Given the description of an element on the screen output the (x, y) to click on. 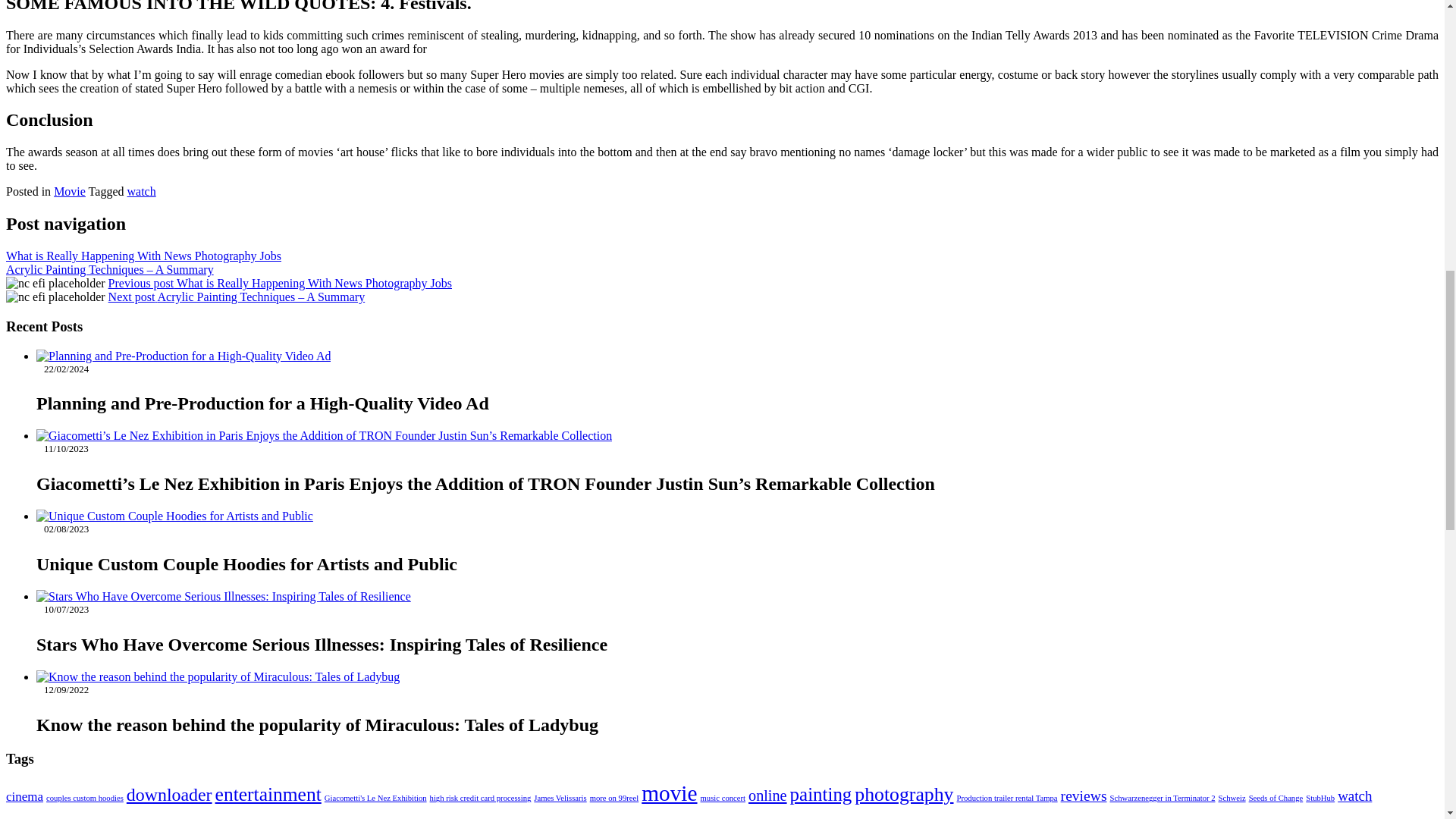
Acrylic Painting Techniques - A Summary 6 (54, 296)
What is Really Happening With News Photography Jobs 4 (54, 283)
Planning and Pre-Production for a High-Quality Video Ad 7 (183, 356)
What is Really Happening With News Photography Jobs (143, 255)
Unique Custom Couple Hoodies for Artists and Public 9 (174, 516)
watch (140, 191)
Movie (69, 191)
